Given the description of an element on the screen output the (x, y) to click on. 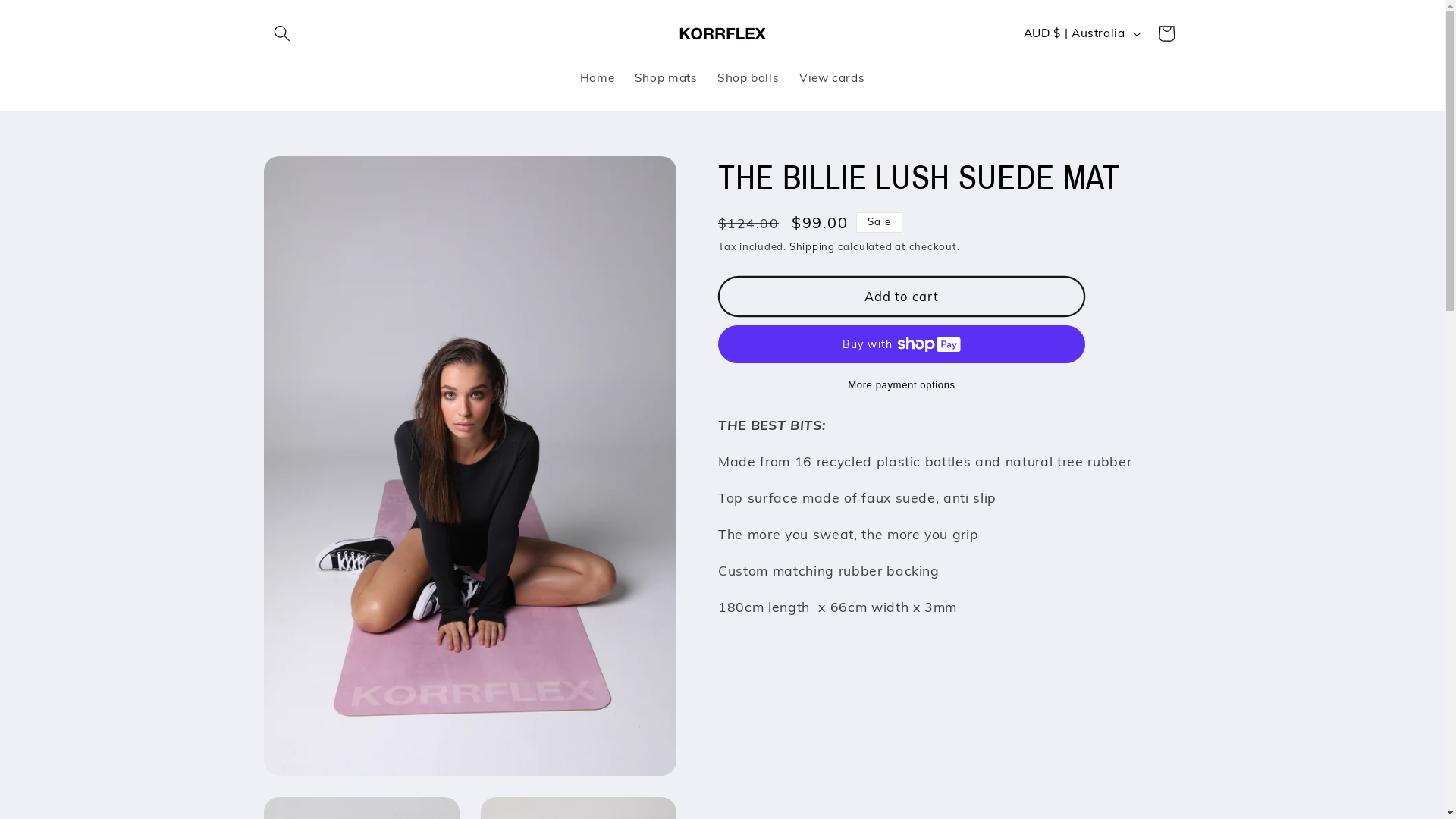
View cards Element type: text (832, 77)
Add to cart Element type: text (901, 296)
Shop balls Element type: text (748, 77)
Skip to product information Element type: text (313, 175)
Home Element type: text (596, 77)
Cart Element type: text (1166, 33)
More payment options Element type: text (901, 384)
AUD $ | Australia Element type: text (1080, 33)
Shop mats Element type: text (665, 77)
Shipping Element type: text (811, 246)
